Given the description of an element on the screen output the (x, y) to click on. 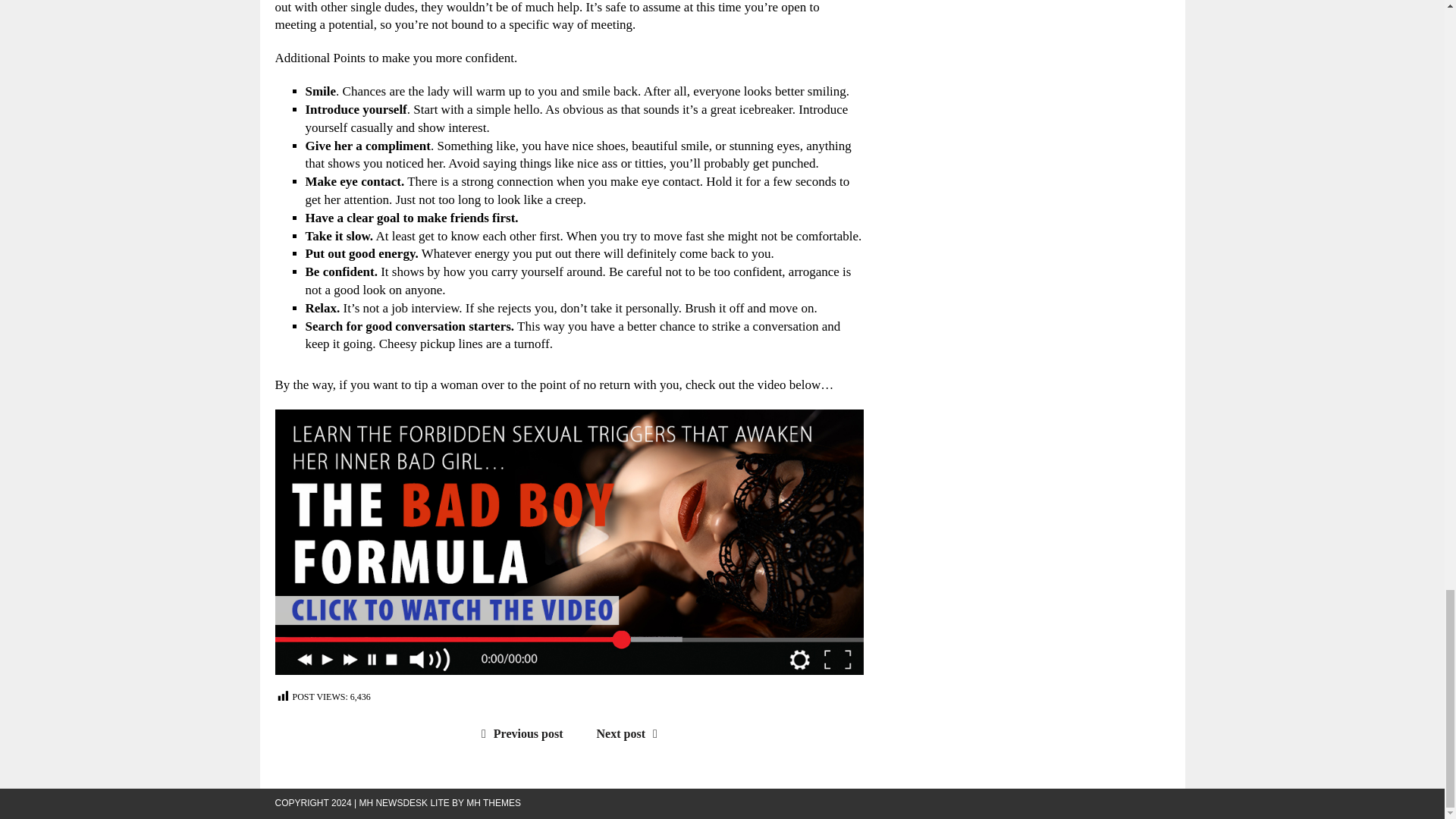
MH THEMES (493, 802)
Previous post (518, 733)
Next post (630, 733)
